Given the description of an element on the screen output the (x, y) to click on. 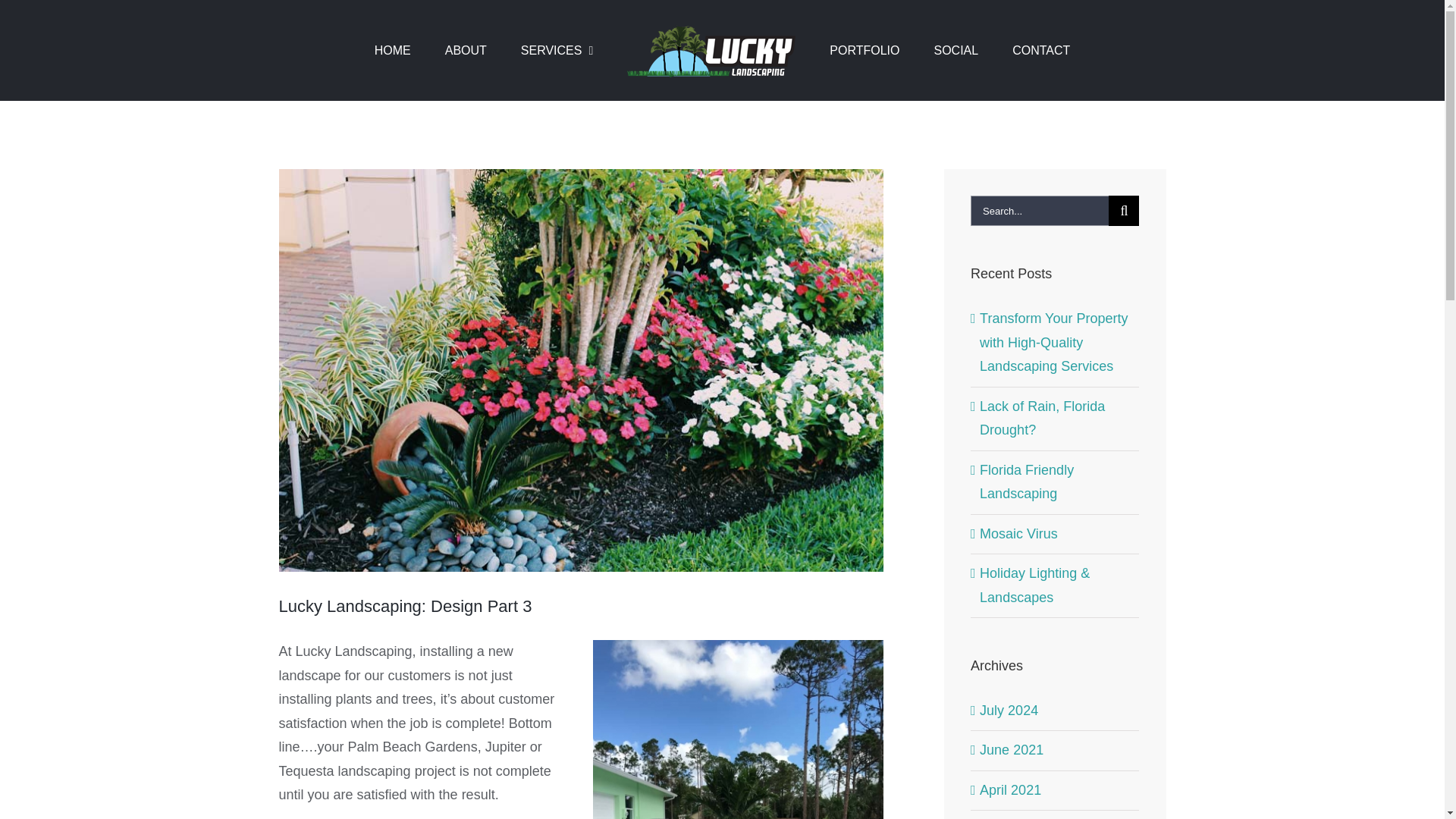
Mosaic Virus (1018, 533)
PORTFOLIO (864, 49)
Gallery-19 (737, 729)
April 2021 (1010, 789)
Lack of Rain, Florida Drought? (1042, 418)
July 2024 (1008, 710)
SERVICES (556, 49)
CONTACT (1040, 49)
Florida Friendly Landscaping (1026, 482)
June 2021 (1011, 749)
